Given the description of an element on the screen output the (x, y) to click on. 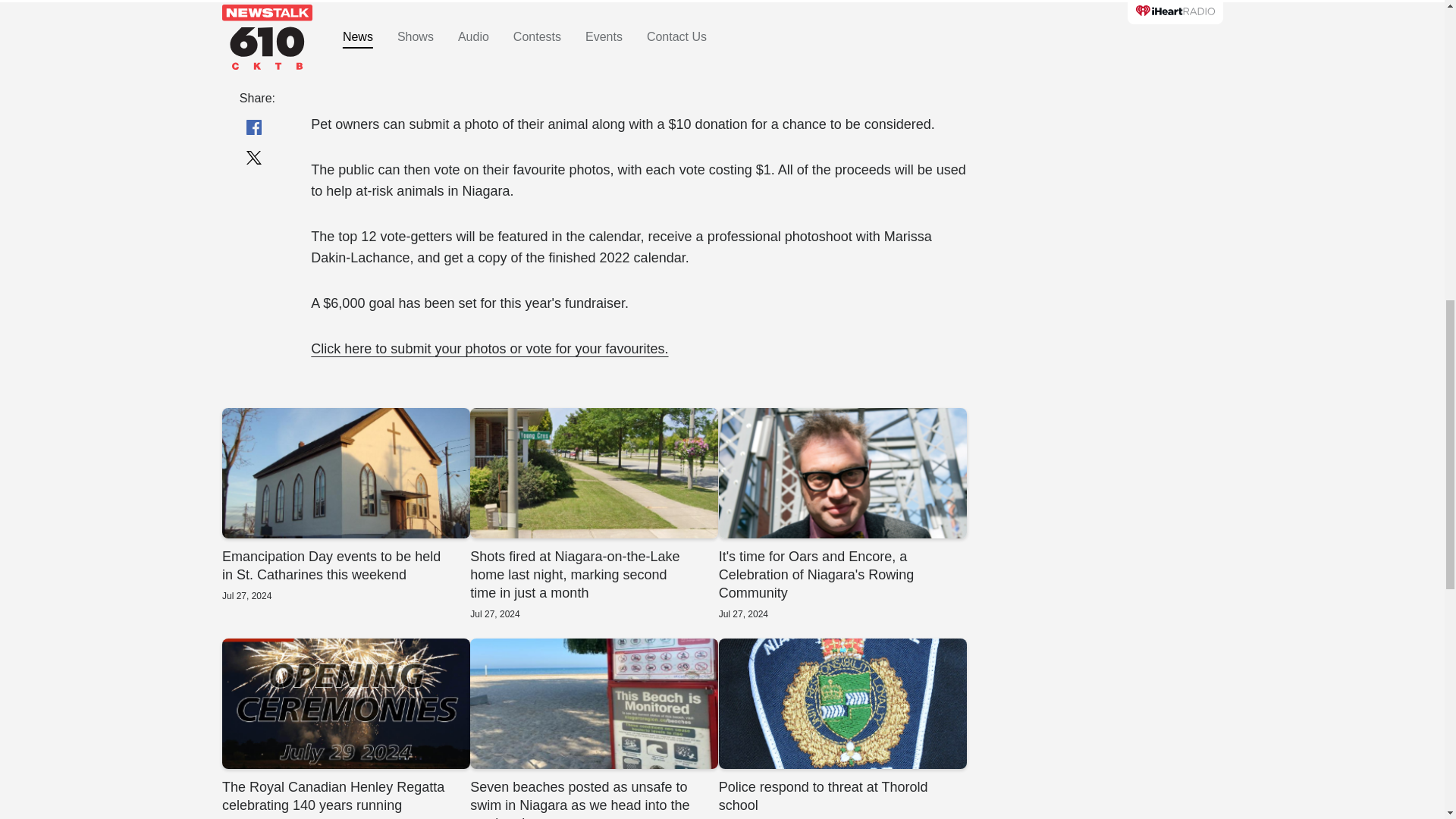
Police respond to threat at Thorold school (841, 728)
